Given the description of an element on the screen output the (x, y) to click on. 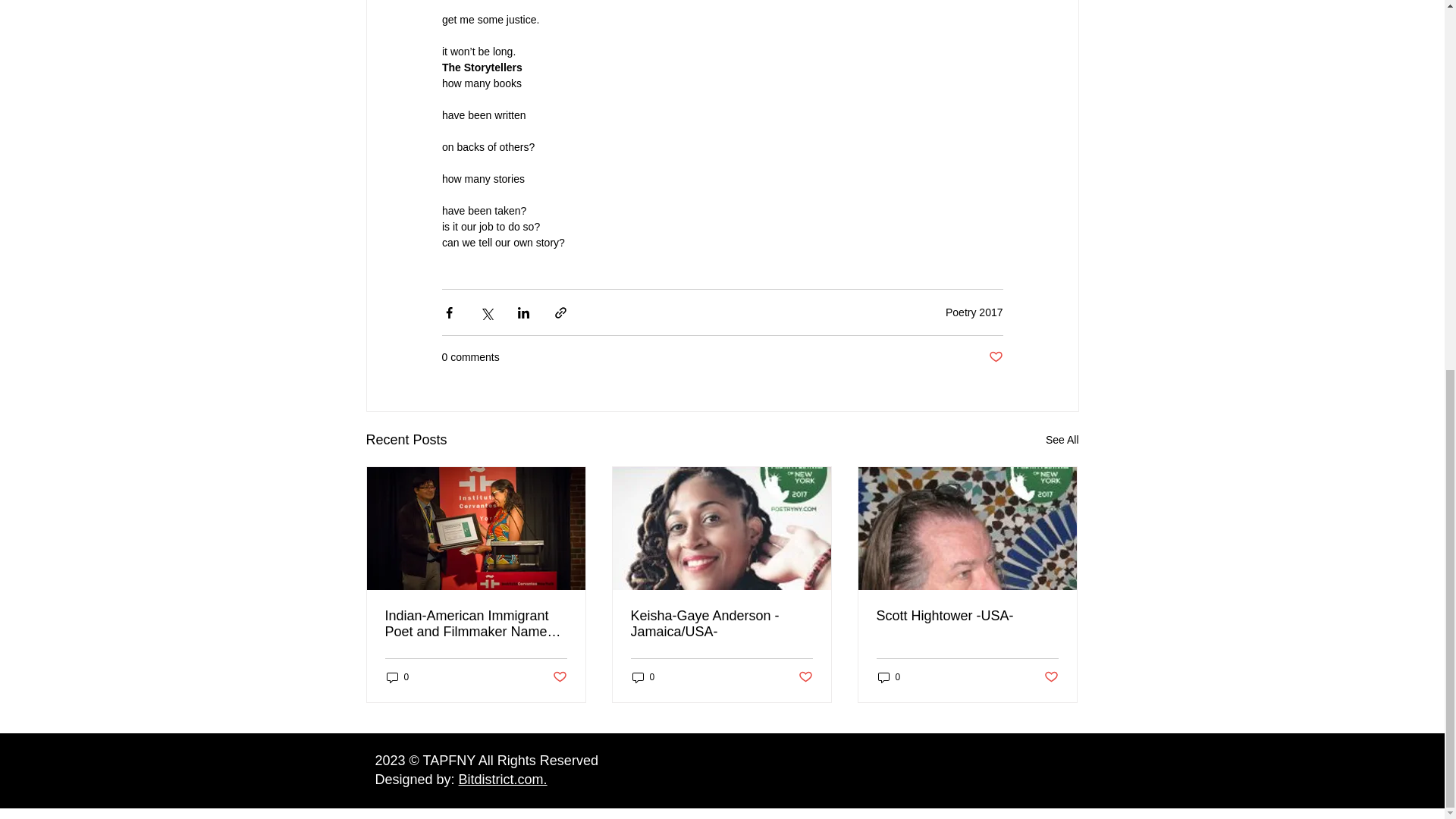
Post not marked as liked (558, 676)
0 (643, 677)
0 (397, 677)
Post not marked as liked (804, 676)
Post not marked as liked (995, 357)
Poetry 2017 (973, 312)
See All (1061, 440)
